Given the description of an element on the screen output the (x, y) to click on. 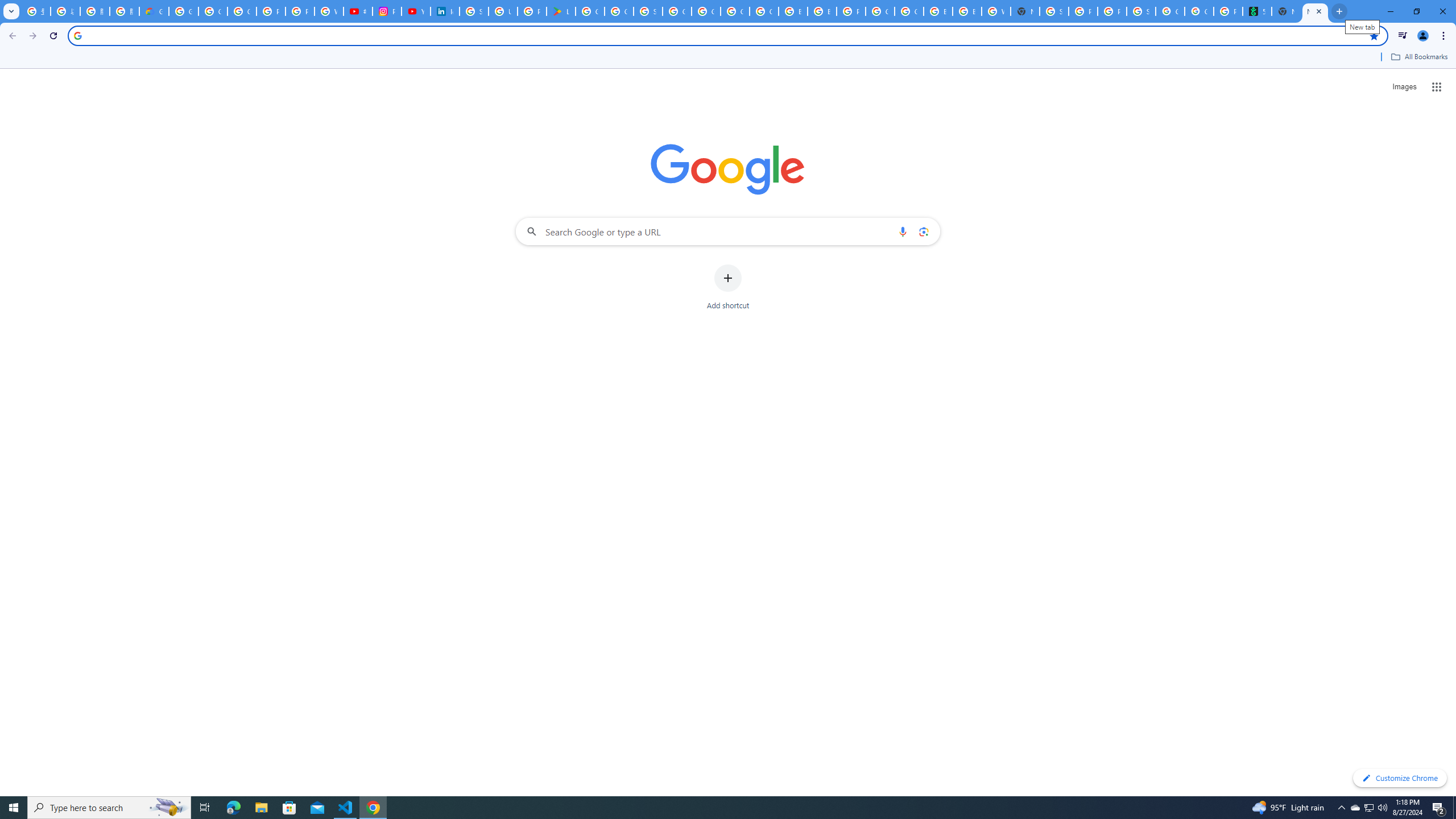
Sign in - Google Accounts (648, 11)
Google Workspace - Specific Terms (619, 11)
Google Cloud Platform (908, 11)
